Given the description of an element on the screen output the (x, y) to click on. 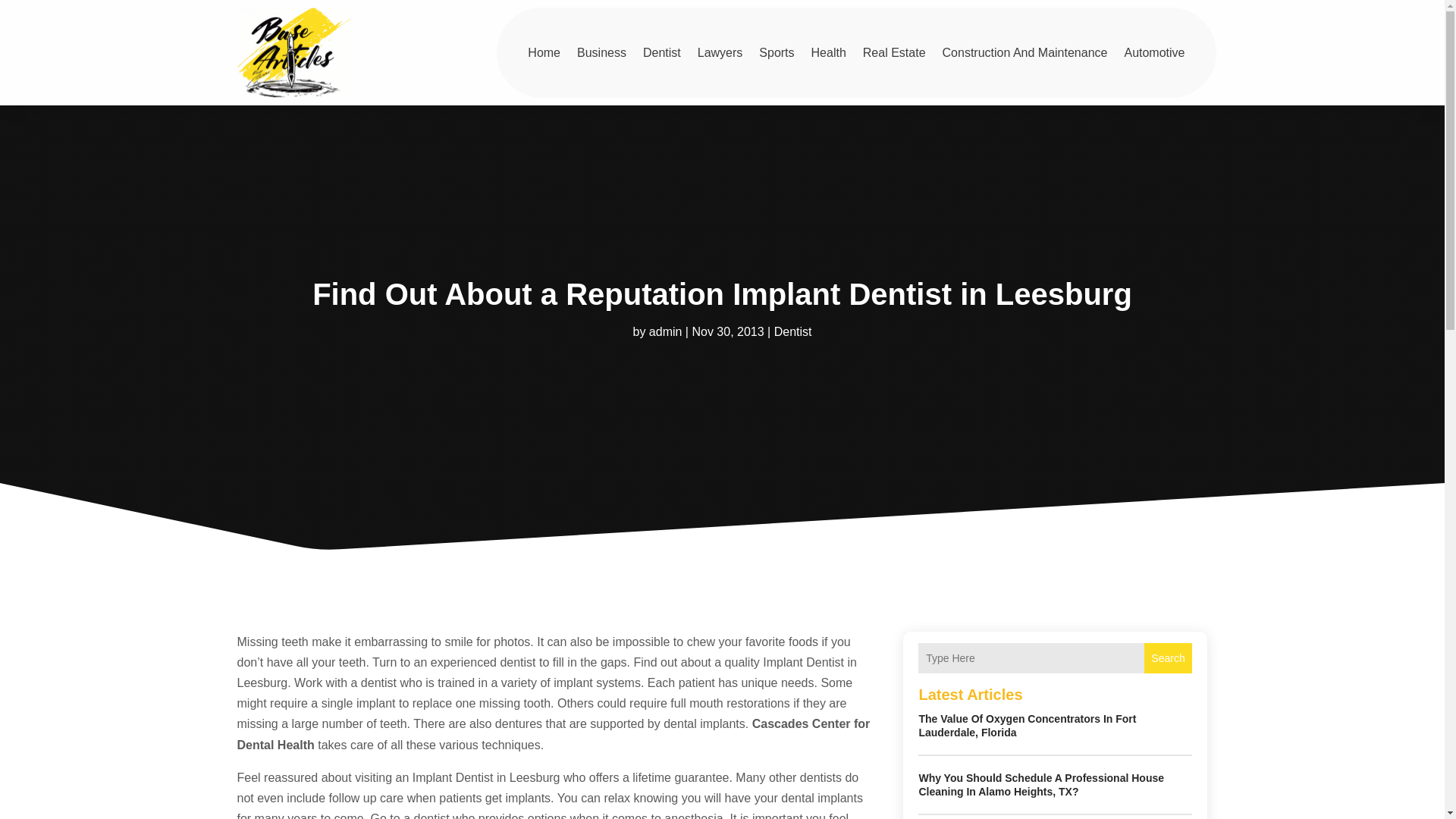
admin (665, 331)
Dentist (793, 331)
Posts by admin (665, 331)
Search (1168, 657)
Construction And Maintenance (1025, 52)
